Given the description of an element on the screen output the (x, y) to click on. 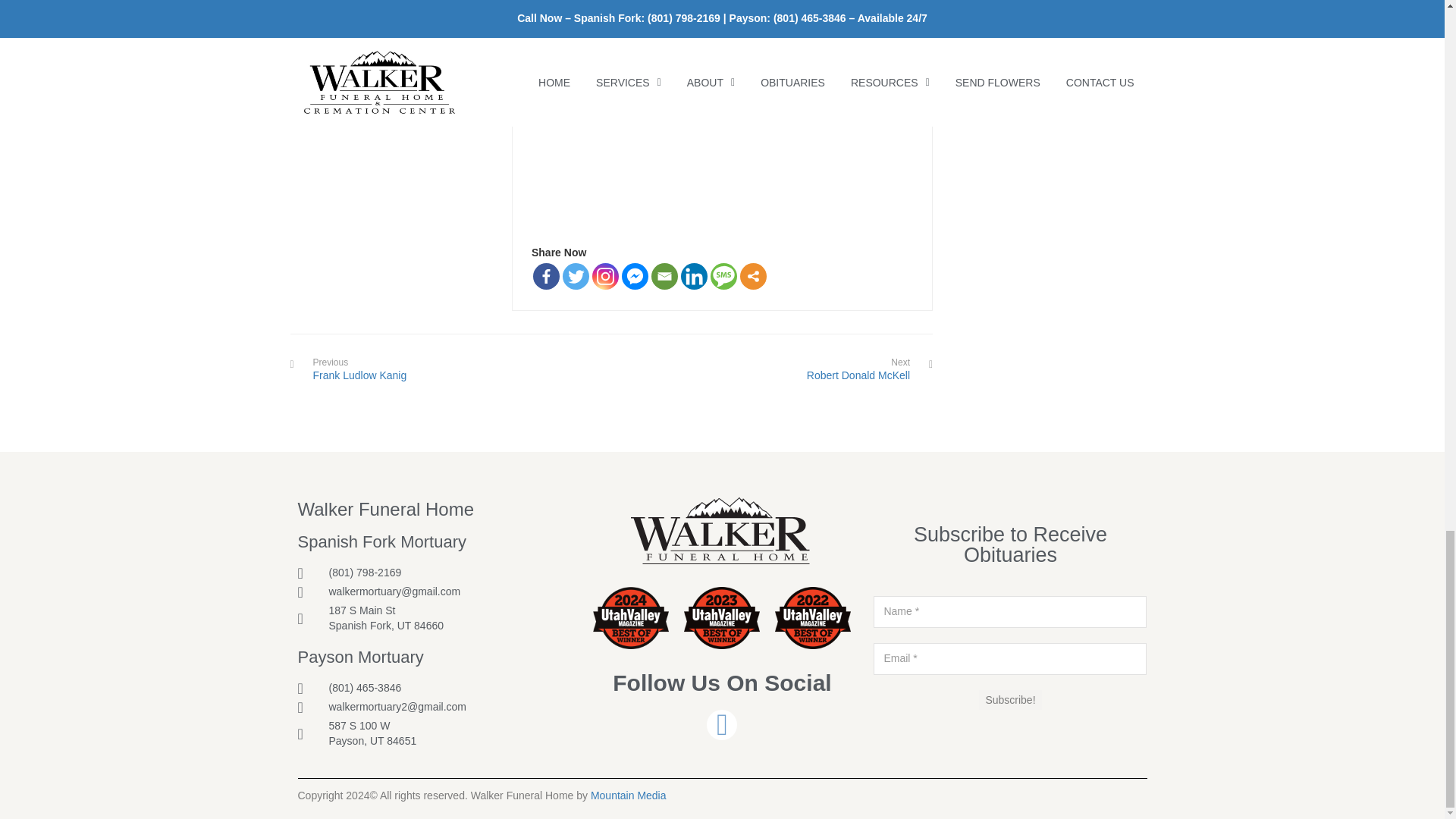
Email (1010, 658)
LinkedIn (694, 275)
Email (664, 275)
More (753, 275)
Facebook (545, 275)
Twitter (575, 275)
YouTube video player (743, 116)
Name (1010, 612)
Instagram (605, 275)
SMS (723, 275)
Subscribe! (1009, 700)
